Given the description of an element on the screen output the (x, y) to click on. 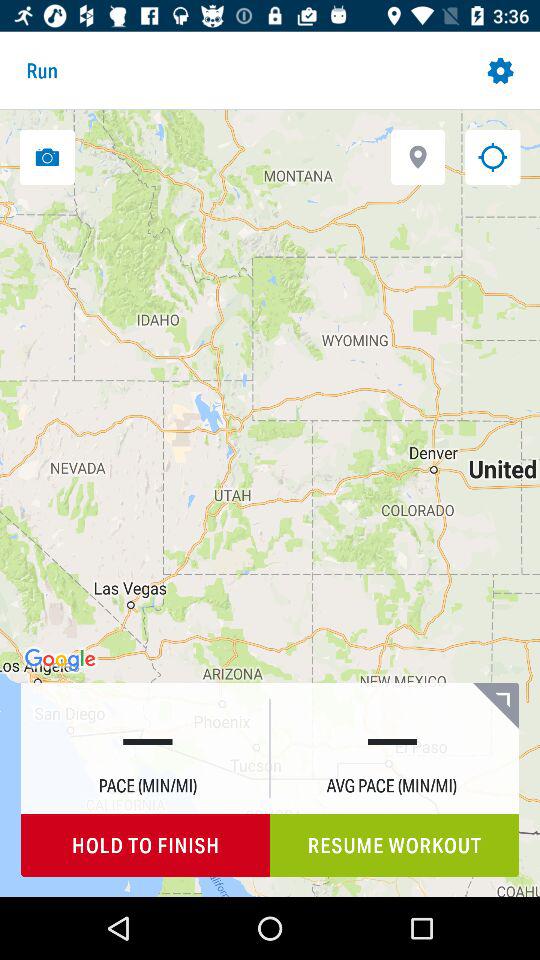
launch the icon next to hold to finish (394, 845)
